Given the description of an element on the screen output the (x, y) to click on. 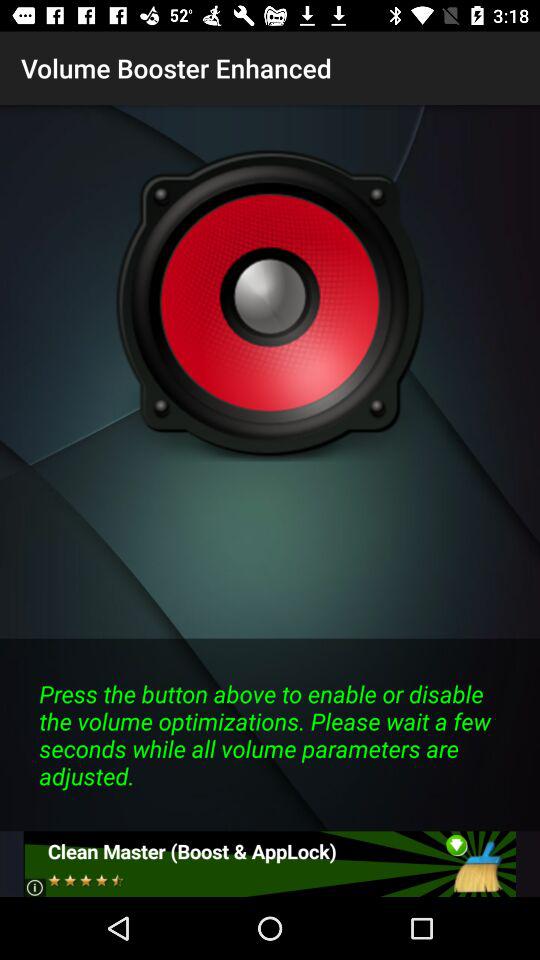
open the specific page (269, 864)
